Given the description of an element on the screen output the (x, y) to click on. 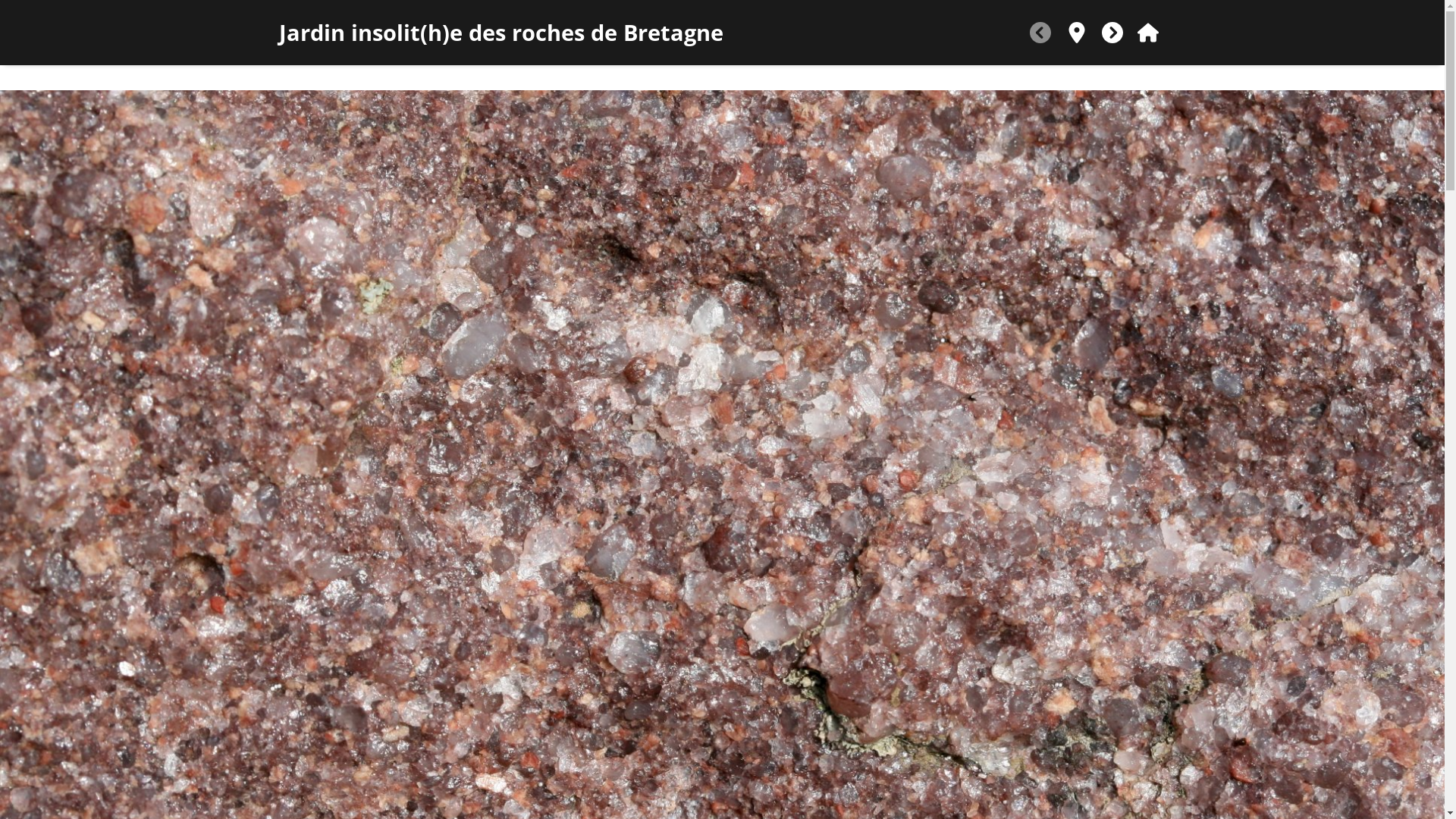
Accueil Element type: text (1147, 32)
Afficher la carte Element type: hover (1076, 32)
Jardin insolit(h)e des roches de Bretagne Element type: text (650, 32)
